Given the description of an element on the screen output the (x, y) to click on. 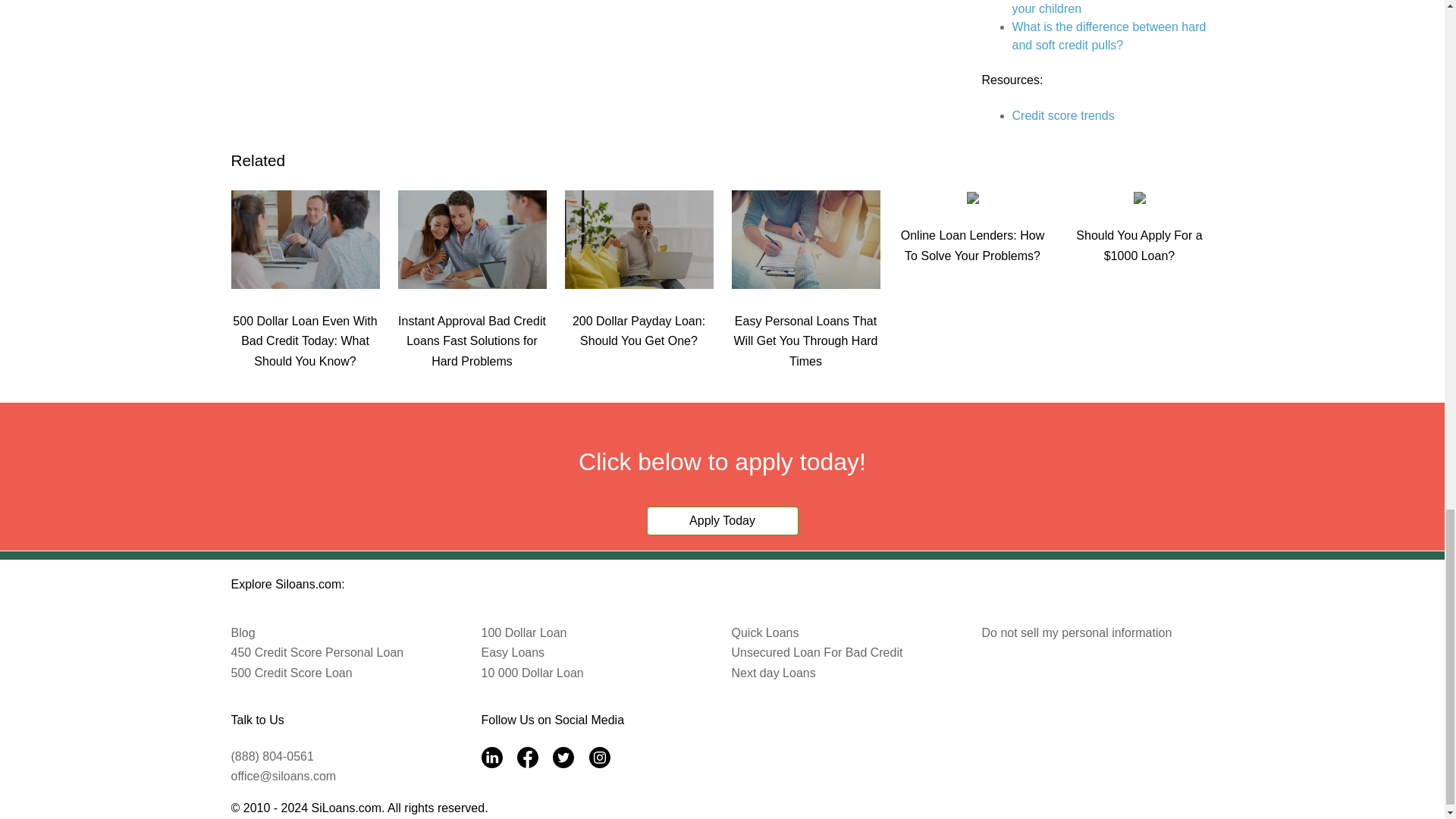
The benefits of giving allowance to your children (1103, 7)
What is the difference between hard and soft credit pulls? (1108, 35)
Online Loan Lenders: How To Solve Your Problems? (972, 229)
Easy Personal Loans That Will Get You Through Hard Times (804, 324)
200 Dollar Payday Loan: Should You Get One? (638, 314)
Credit score trends (1062, 115)
